Given the description of an element on the screen output the (x, y) to click on. 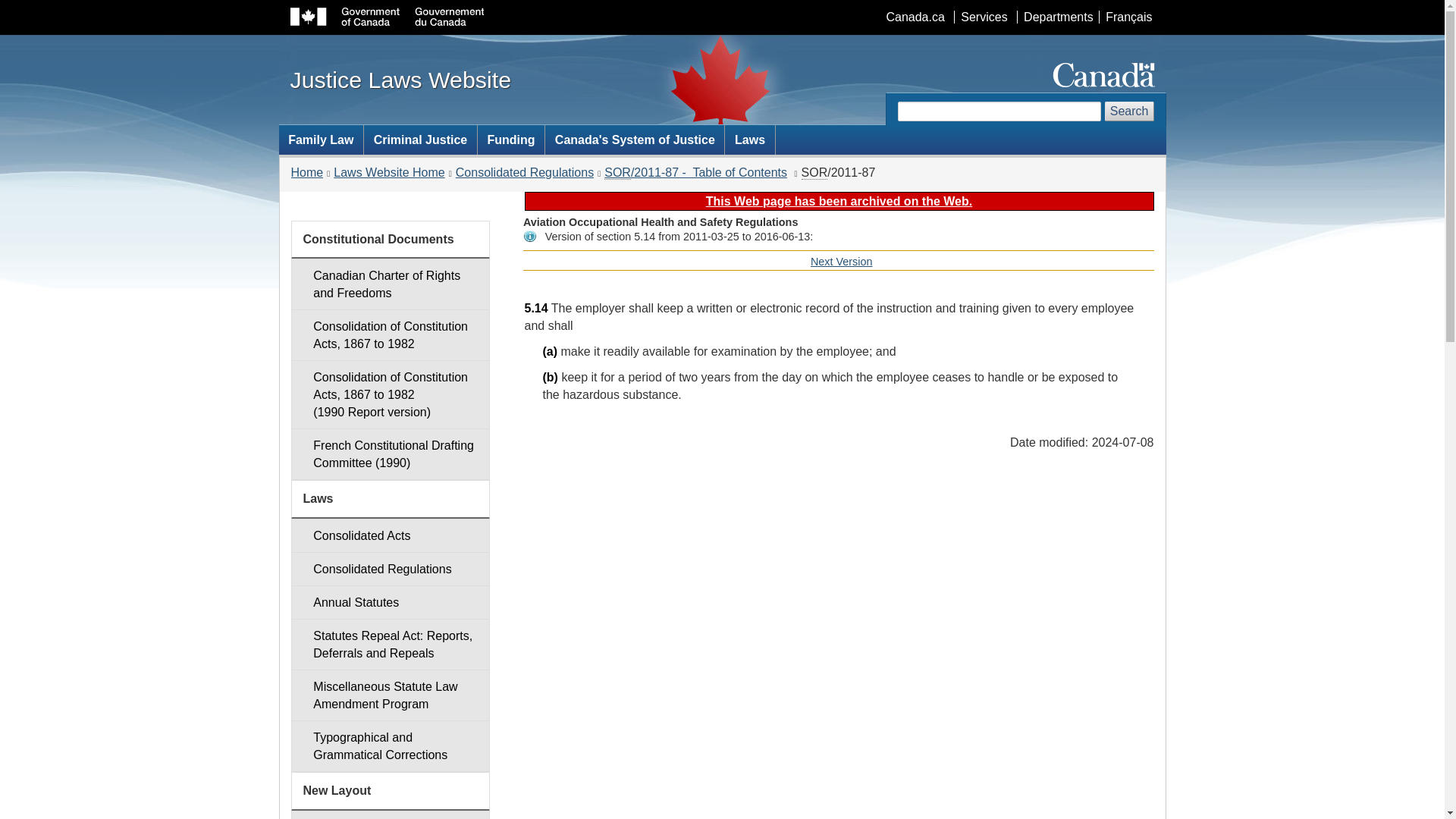
Statutes Repeal Act: Reports, Deferrals and Repeals (390, 644)
Laws Website Home (388, 172)
Consolidated Regulations (390, 569)
This Web page has been archived on the Web. (839, 201)
Canadian Charter of Rights and Freedoms (390, 284)
Consolidated Acts (390, 535)
Laws (749, 139)
Consolidated Regulations and Orders (390, 569)
Search (1129, 111)
